Given the description of an element on the screen output the (x, y) to click on. 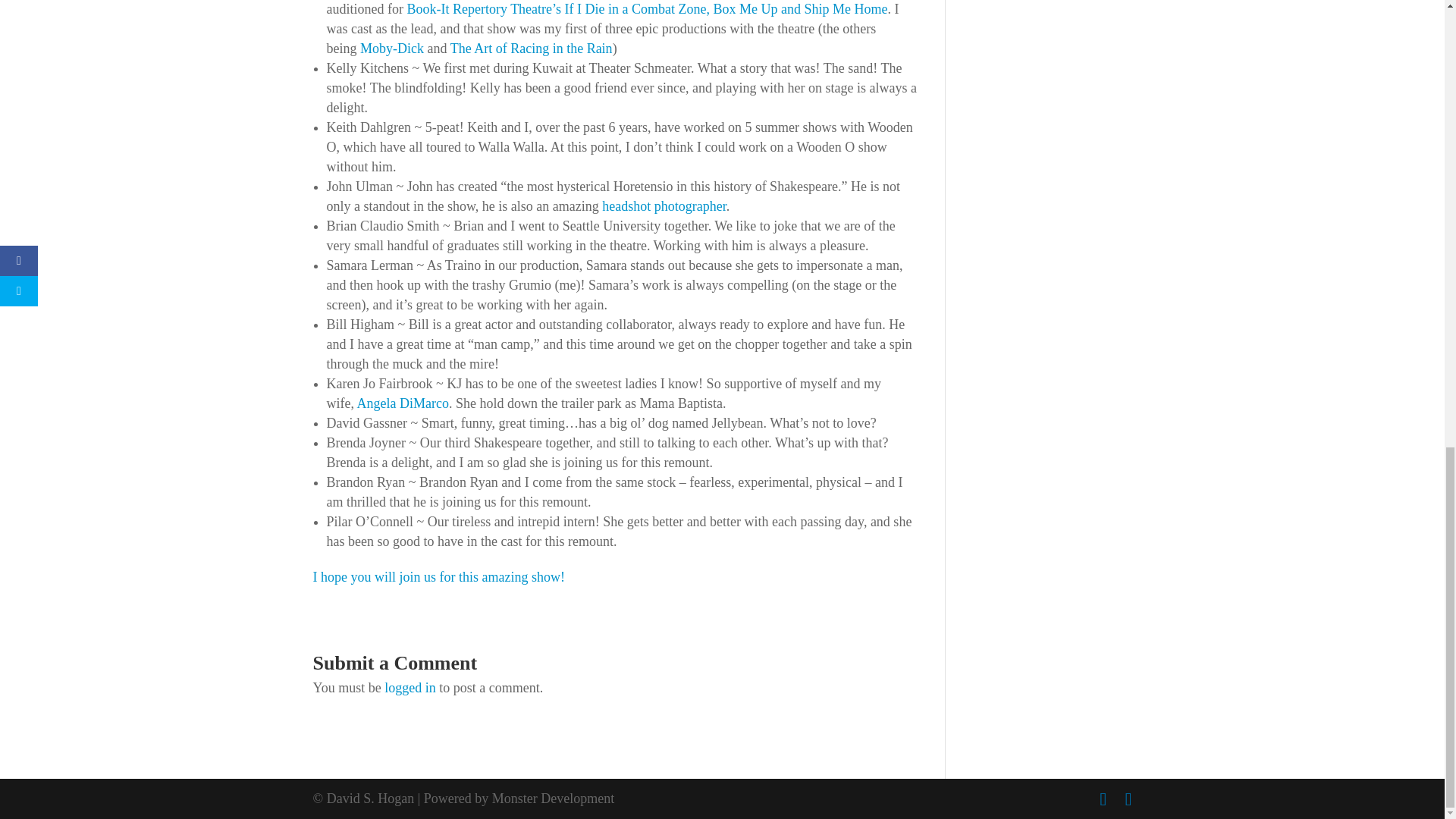
logged in (409, 687)
headshot photographer (663, 206)
The Art of Racing in the Rain (530, 48)
Angela DiMarco (402, 403)
Moby-Dick (391, 48)
I hope you will join us for this amazing show! (438, 576)
